Given the description of an element on the screen output the (x, y) to click on. 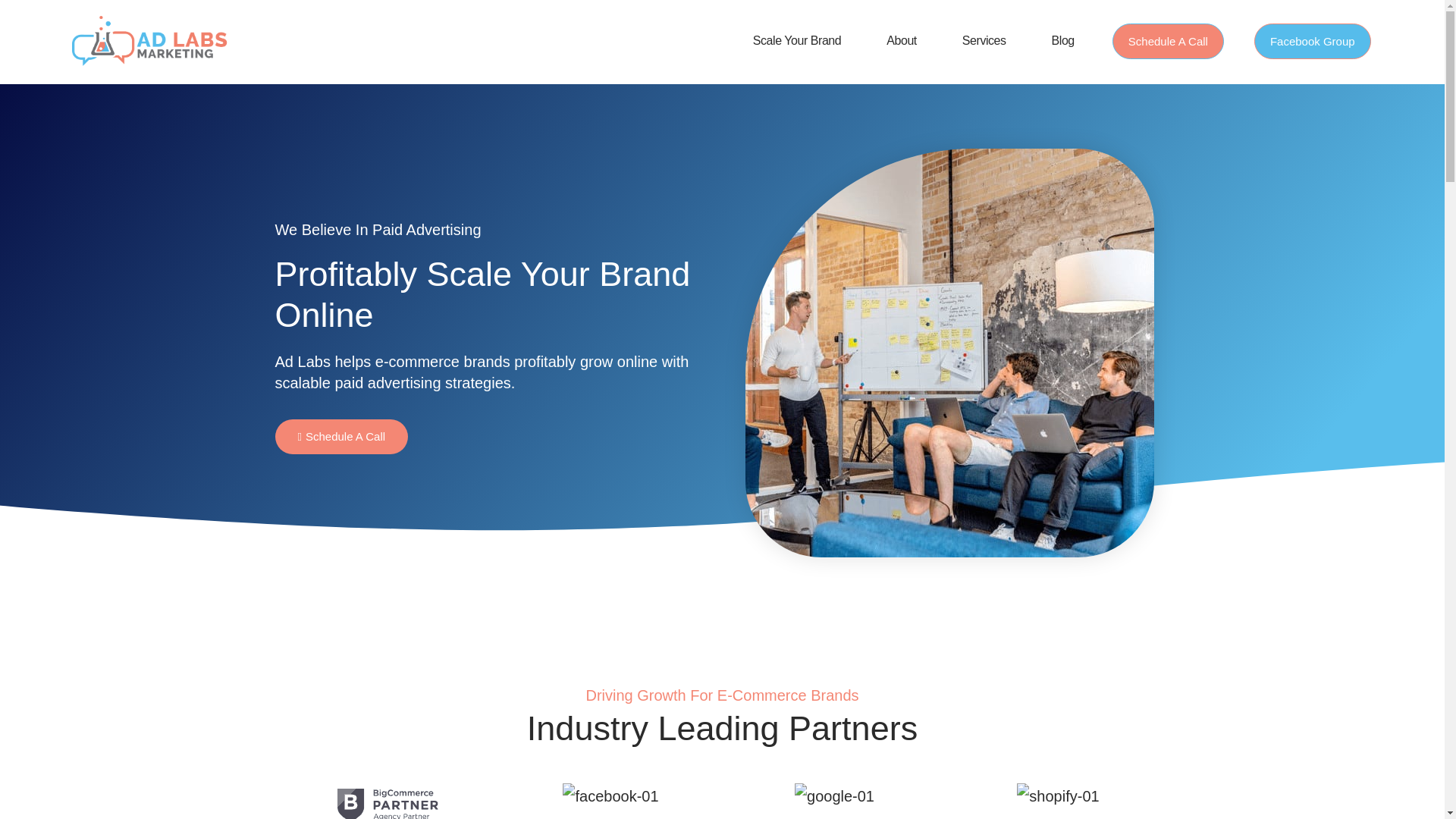
Scale Your Brand (796, 40)
Schedule A Call (1168, 40)
About (901, 40)
Blog (1062, 40)
Services (984, 40)
Facebook Group (1312, 40)
Schedule A Call (341, 436)
